Given the description of an element on the screen output the (x, y) to click on. 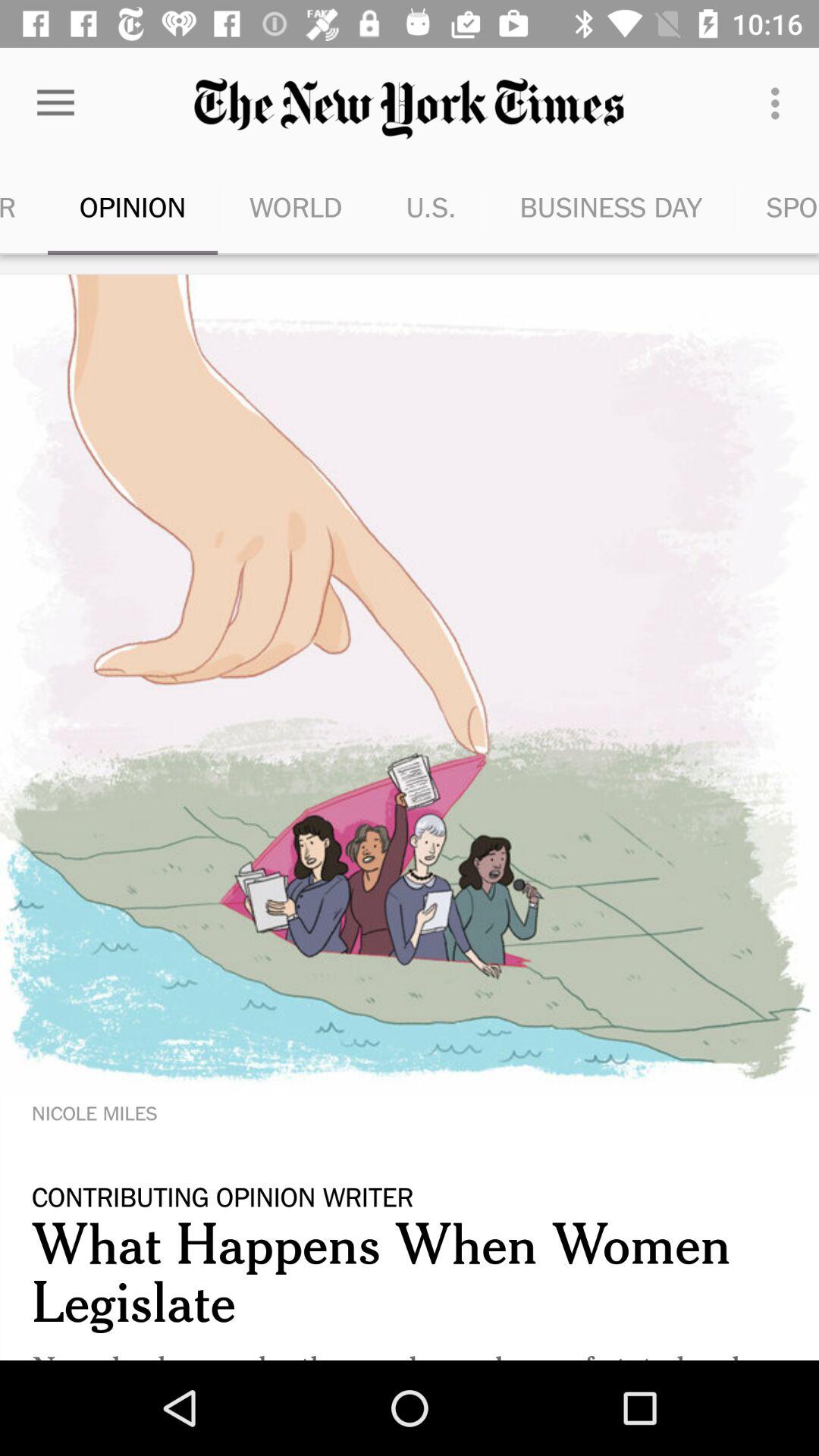
swipe to the business day item (610, 206)
